Given the description of an element on the screen output the (x, y) to click on. 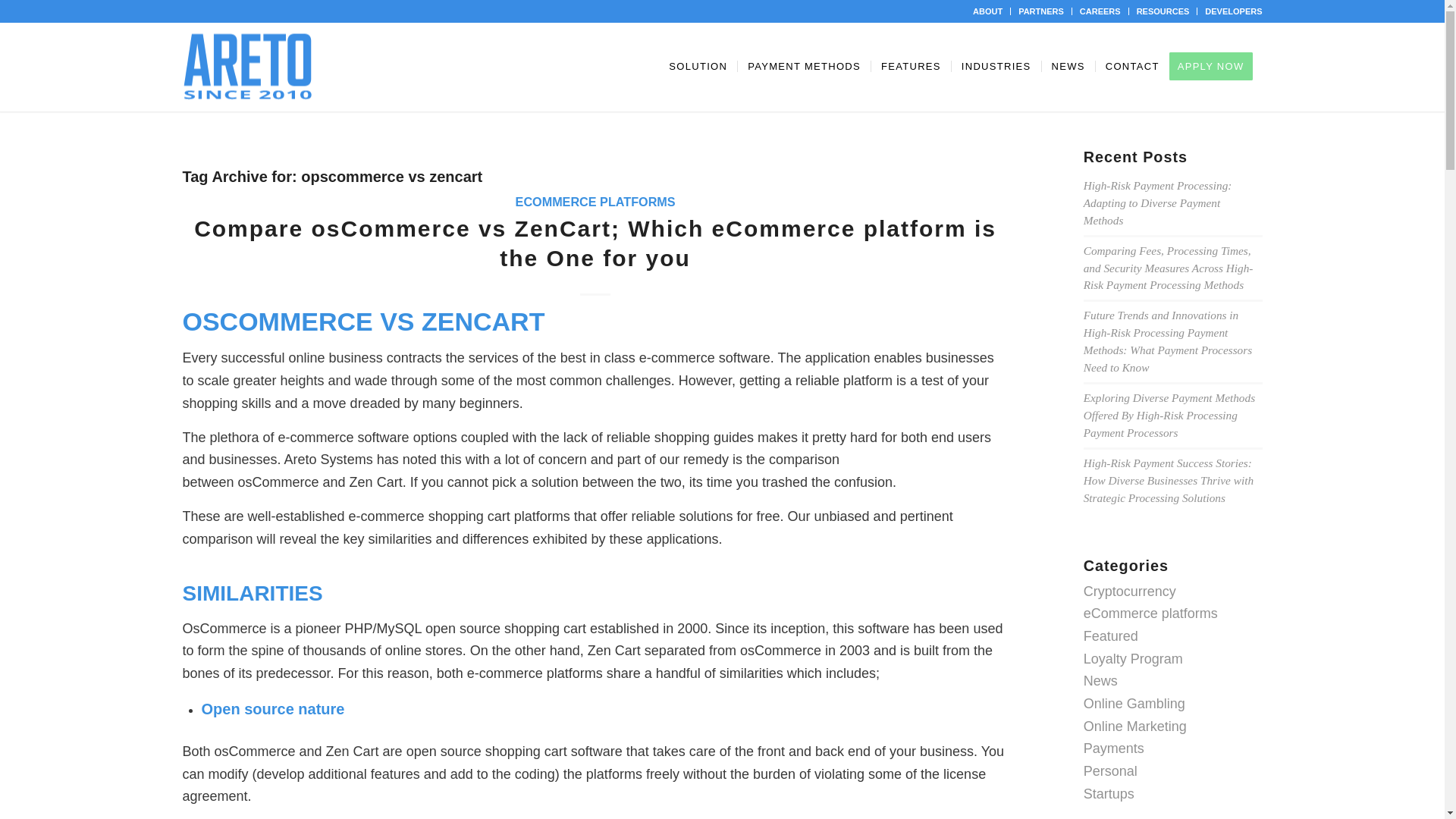
PARTNERS (1040, 11)
eCommerce platforms (1150, 613)
DEVELOPERS (1233, 11)
ECOMMERCE PLATFORMS (595, 201)
Featured (1110, 635)
RESOURCES (1163, 11)
APPLY NOW (1215, 66)
